Given the description of an element on the screen output the (x, y) to click on. 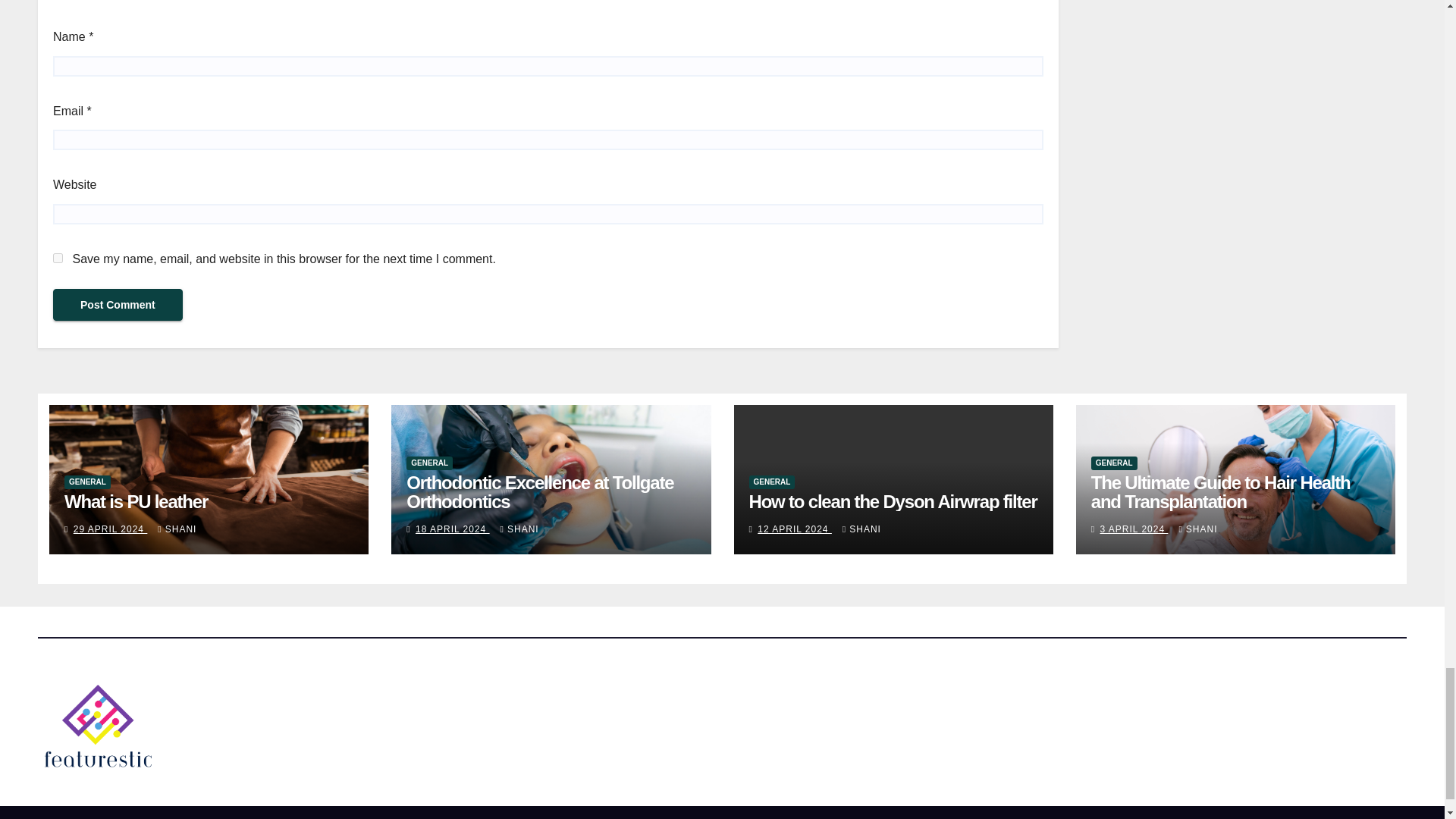
yes (57, 257)
Post Comment (117, 305)
